Given the description of an element on the screen output the (x, y) to click on. 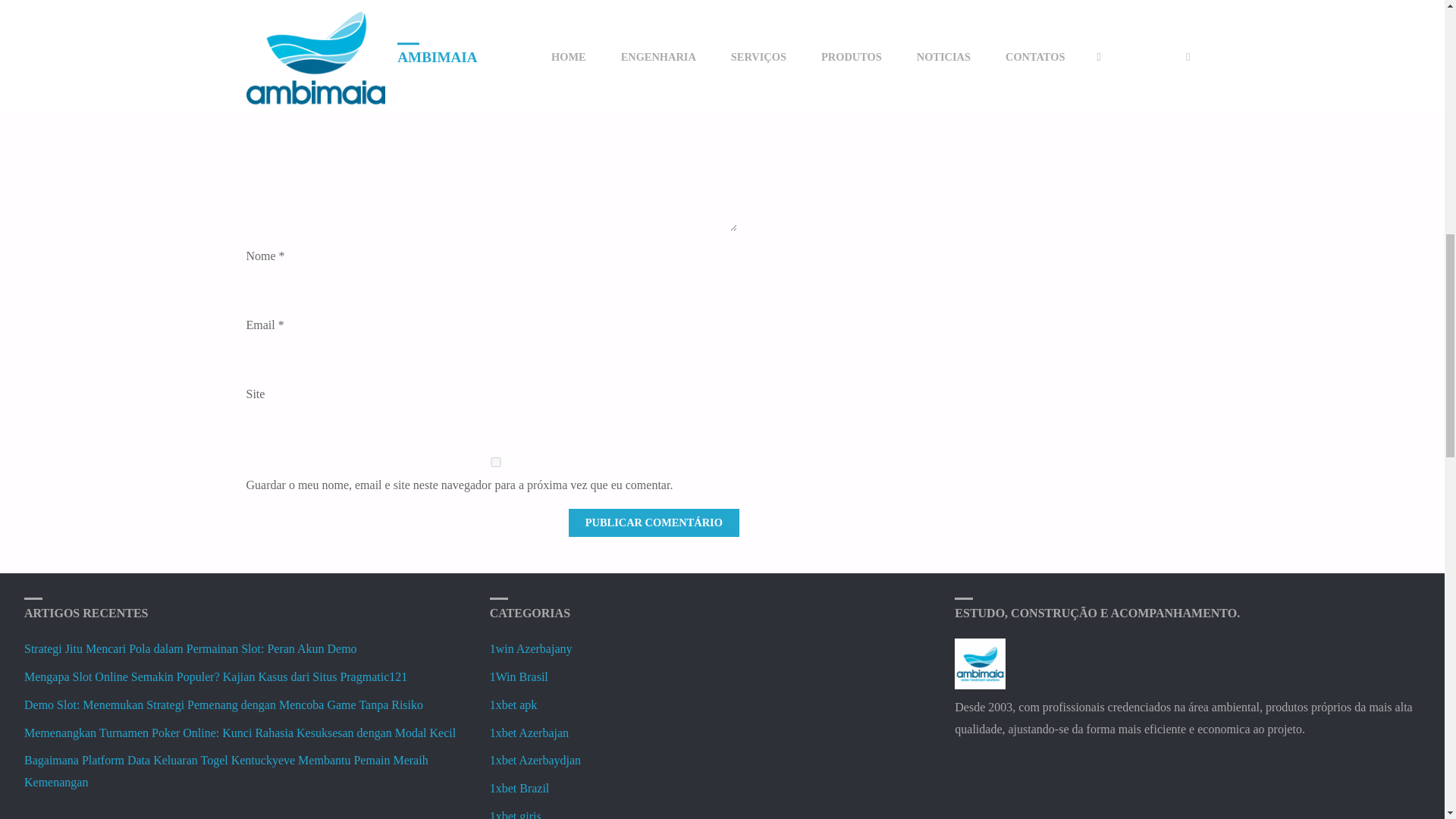
yes (494, 461)
